Given the description of an element on the screen output the (x, y) to click on. 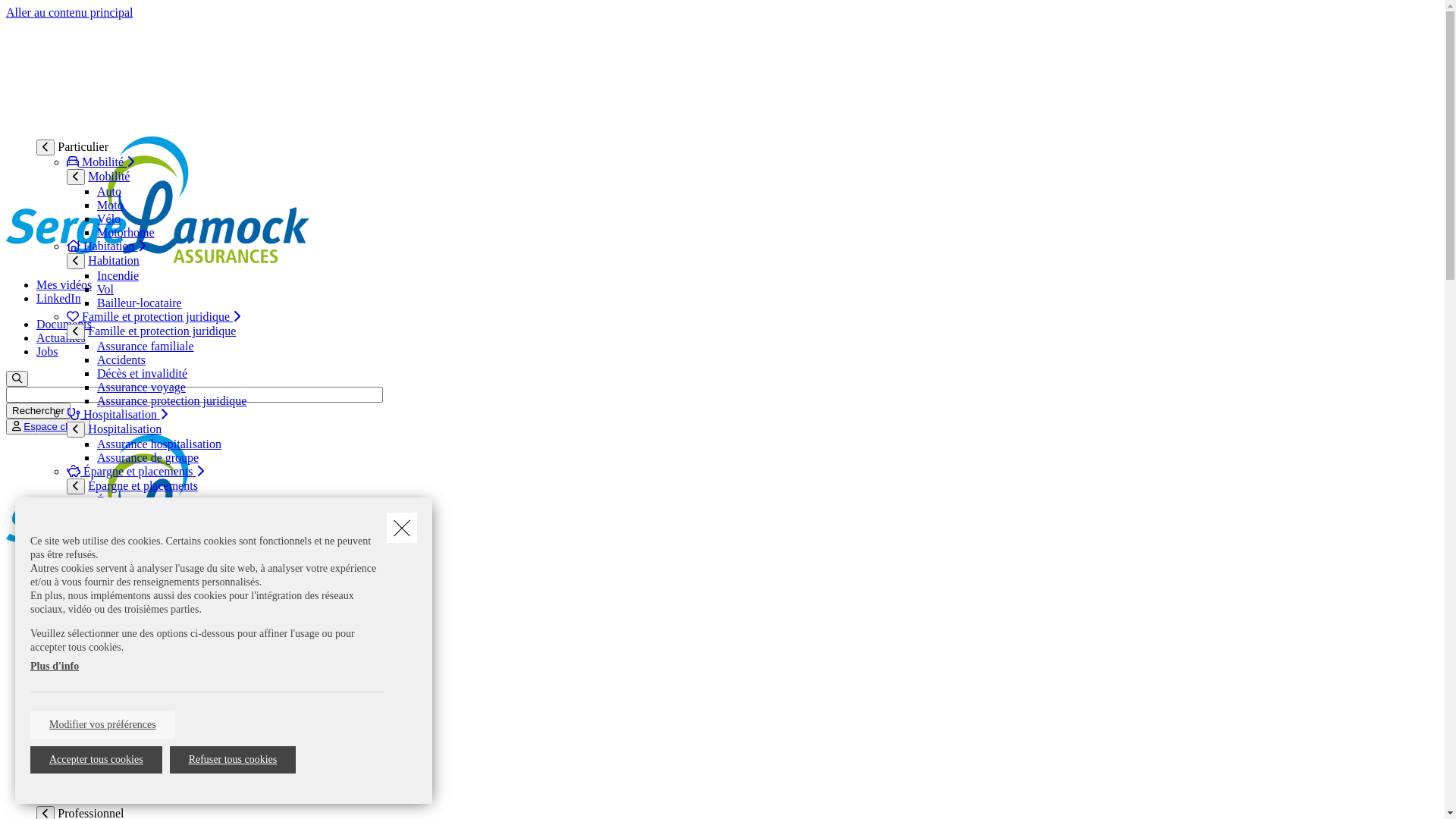
Espace client Element type: text (48, 426)
Habitation Element type: text (105, 245)
Espace client Element type: text (53, 426)
Assurance de groupe Element type: text (147, 584)
Accidents Element type: text (121, 359)
Bailleur-locataire Element type: text (139, 302)
Plus d'info Element type: text (54, 665)
Incendie Element type: text (117, 275)
Pension Element type: text (98, 527)
Particulier Element type: text (64, 584)
Habitation Element type: text (113, 260)
Rechercher Element type: text (38, 410)
Auto Element type: text (109, 191)
Accepter tous cookies Element type: text (96, 759)
Assurance familiale Element type: text (145, 345)
Assurance protection juridique Element type: text (171, 400)
Famille et protection juridique Element type: text (161, 330)
Placements Element type: text (124, 514)
Refuser tous cookies Element type: text (232, 759)
Hospitalisation Element type: text (116, 413)
Assurance de groupe Element type: text (147, 457)
Famille et protection juridique Element type: text (153, 316)
Documents Element type: text (63, 323)
Pension Element type: text (106, 542)
Motorhome Element type: text (125, 231)
Moto Element type: text (110, 204)
LinkedIn Element type: text (58, 297)
Hospitalisation Element type: text (124, 428)
Aller au contenu principal Element type: text (69, 12)
Jobs Element type: text (46, 351)
Assurance hospitalisation Element type: text (159, 443)
Vol Element type: text (105, 288)
Assurance voyage Element type: text (141, 386)
